Given the description of an element on the screen output the (x, y) to click on. 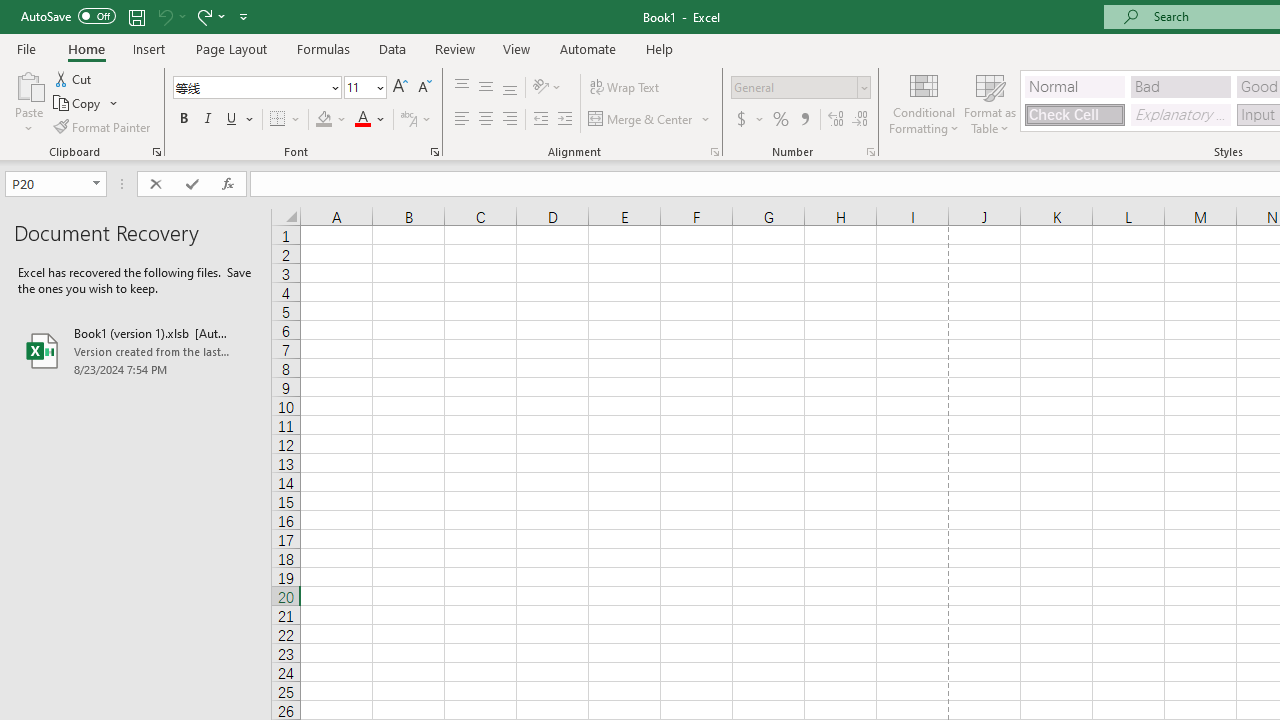
Explanatory Text (1180, 114)
Format Cell Alignment (714, 151)
Copy (85, 103)
Paste (28, 102)
Cut (73, 78)
Wrap Text (624, 87)
Format as Table (990, 102)
Font (256, 87)
Copy (78, 103)
Show Phonetic Field (408, 119)
Font Color RGB(255, 0, 0) (362, 119)
Bottom Border (278, 119)
Font Color (370, 119)
